Given the description of an element on the screen output the (x, y) to click on. 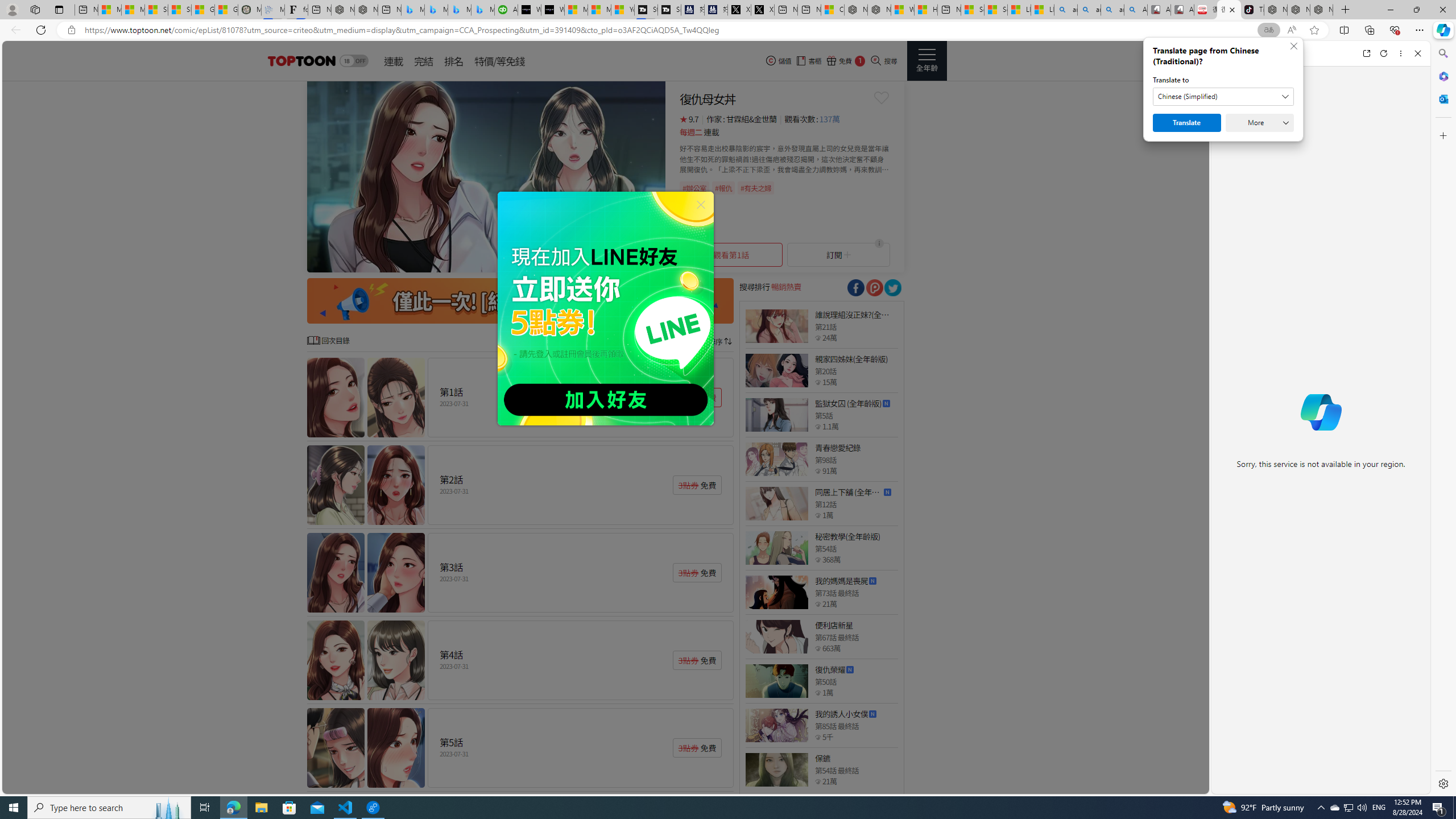
Class: swiper-slide (486, 176)
Streaming Coverage | T3 (645, 9)
Shanghai, China weather forecast | Microsoft Weather (179, 9)
Class:  switch_18mode actionAdultBtn (353, 60)
Manatee Mortality Statistics | FWC (249, 9)
